Given the description of an element on the screen output the (x, y) to click on. 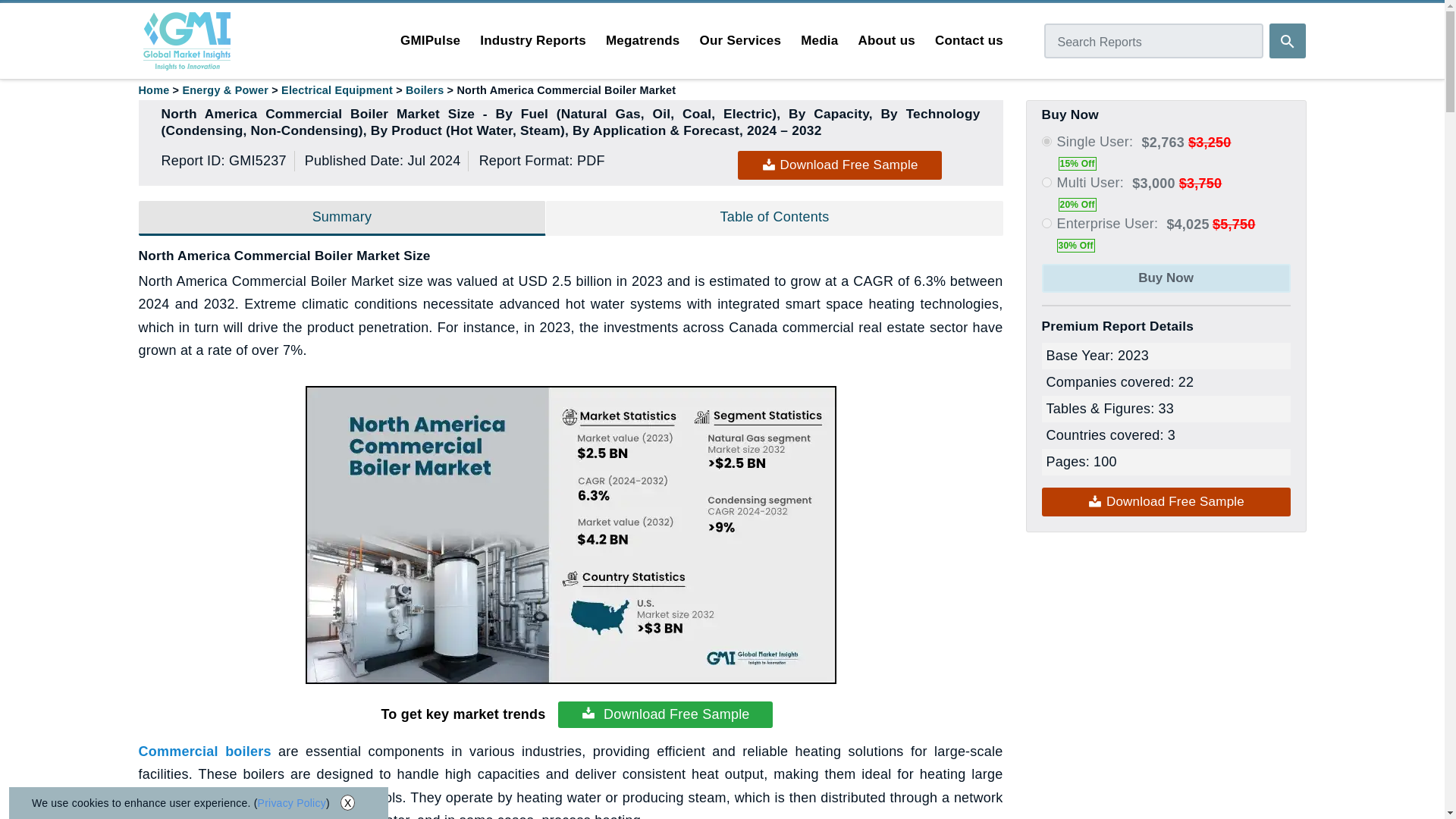
mugmp (1046, 182)
Logo (187, 40)
eugmp (1046, 223)
sugmp (1046, 141)
